Given the description of an element on the screen output the (x, y) to click on. 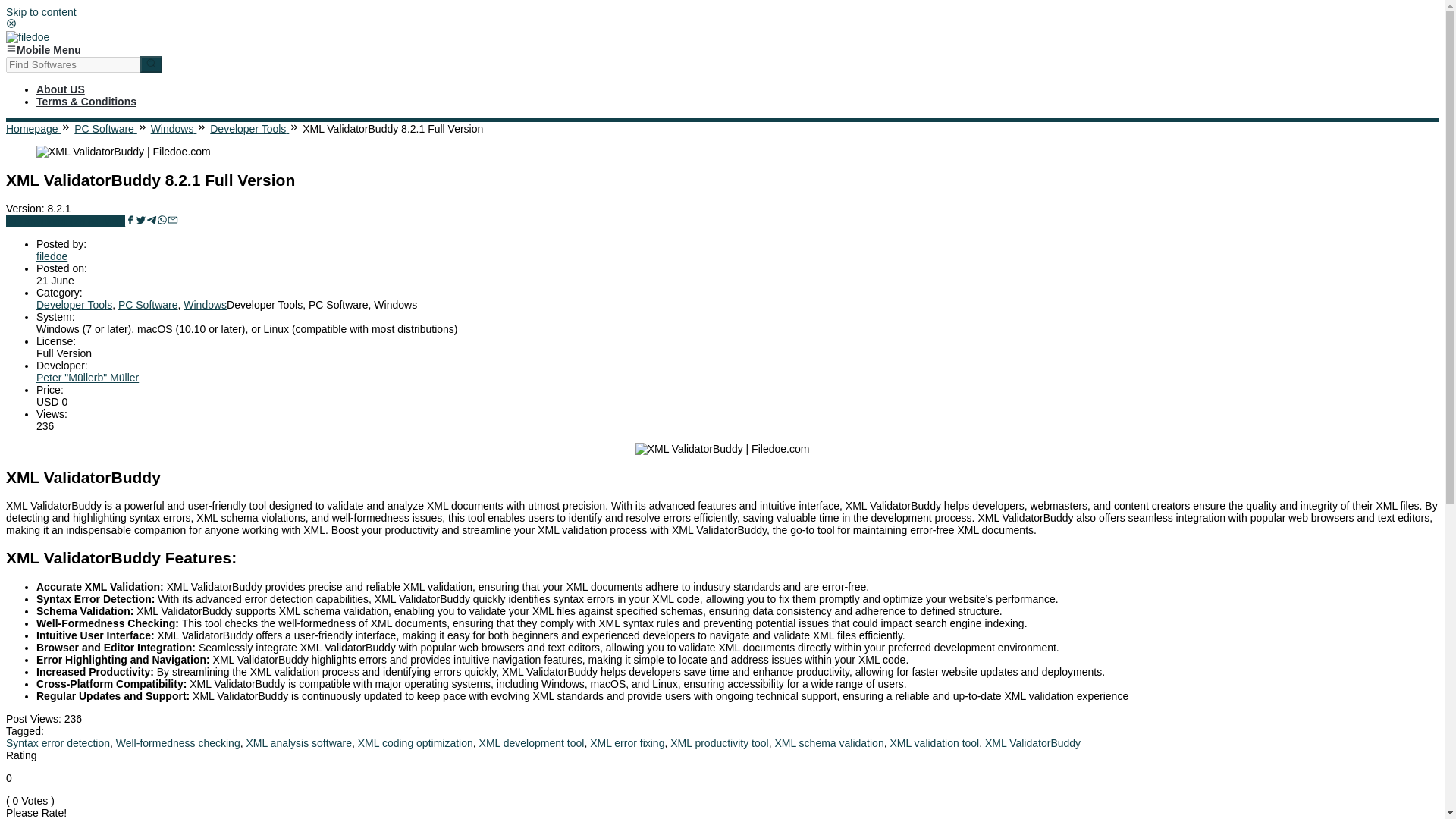
Download XML ValidatorBuddy 8.2.1 Full Version (65, 221)
About US (60, 89)
PC Software (147, 304)
filedoe (51, 256)
Developer Tools (74, 304)
XML analysis software (299, 743)
Syntax error detection (57, 743)
XML schema validation (828, 743)
Mobile Menu (43, 50)
Homepage (33, 128)
Well-formedness checking (178, 743)
PC Software (105, 128)
filedoe (27, 37)
XML error fixing (626, 743)
Windows (173, 128)
